Given the description of an element on the screen output the (x, y) to click on. 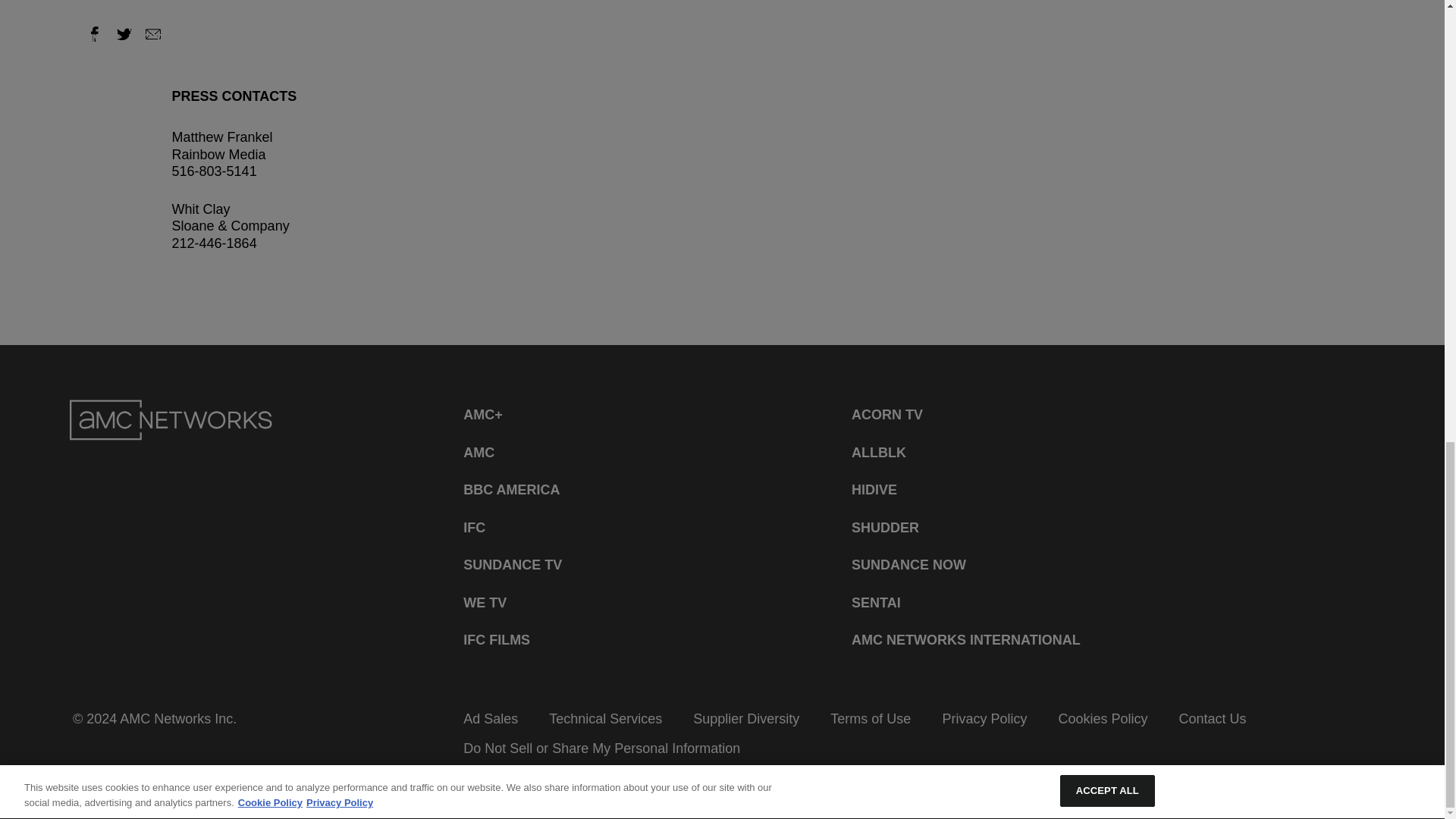
BBC AMERICA (511, 490)
IFC FILMS (496, 640)
AMC (479, 452)
ALLBLK (878, 452)
AMC Networks (170, 419)
ACORN TV (887, 414)
HIDIVE (873, 490)
WE TV (484, 603)
SUNDANCE TV (512, 564)
